Given the description of an element on the screen output the (x, y) to click on. 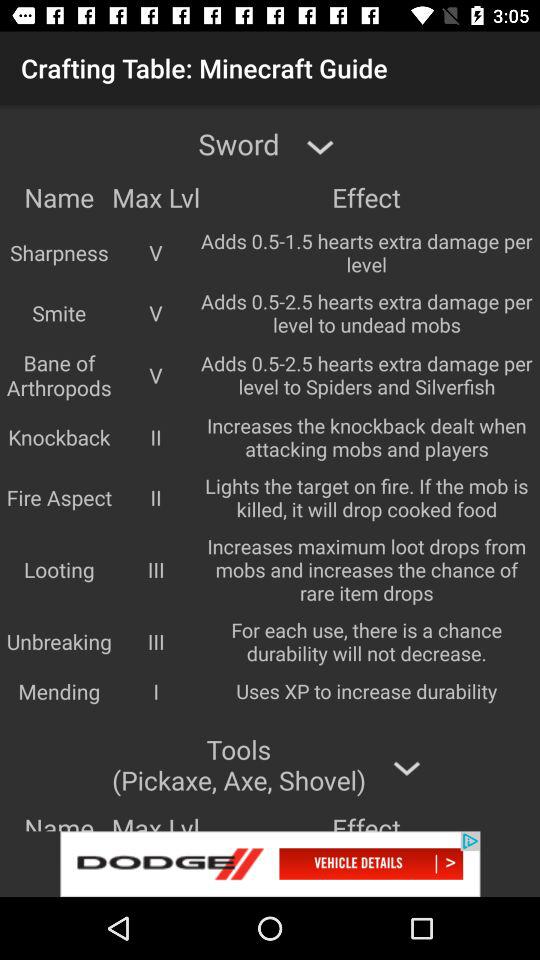
click to view advertisement (270, 864)
